Given the description of an element on the screen output the (x, y) to click on. 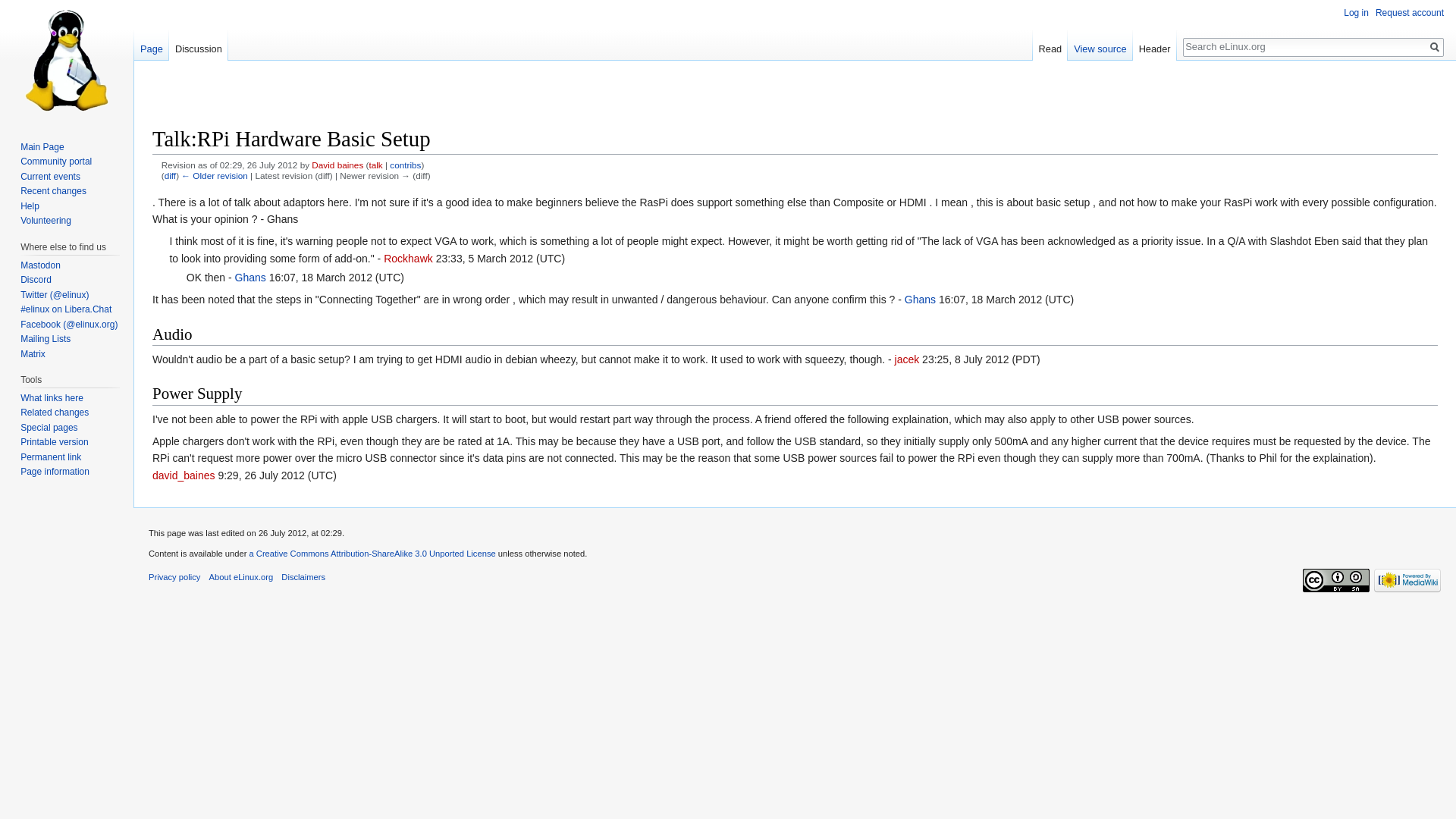
Search (1434, 46)
diff (170, 175)
Talk:RPi Hardware Basic Setup (213, 175)
Ghans (920, 299)
contribs (405, 164)
Page (150, 45)
Special pages (48, 427)
Main Page (42, 146)
Search (1434, 46)
David baines (336, 164)
